Given the description of an element on the screen output the (x, y) to click on. 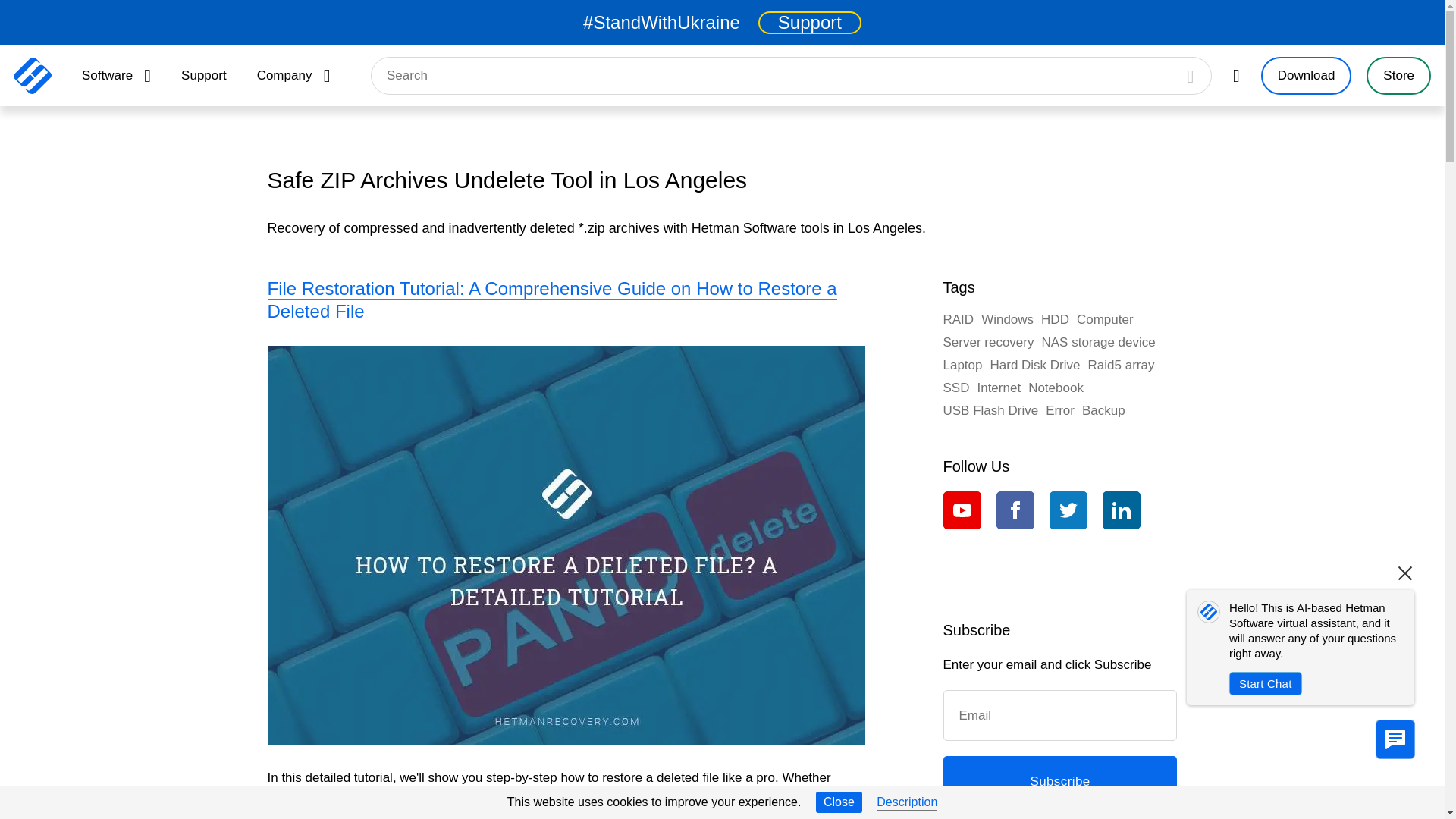
Main (31, 75)
Download (1306, 75)
Software (116, 75)
Store (1399, 75)
